Given the description of an element on the screen output the (x, y) to click on. 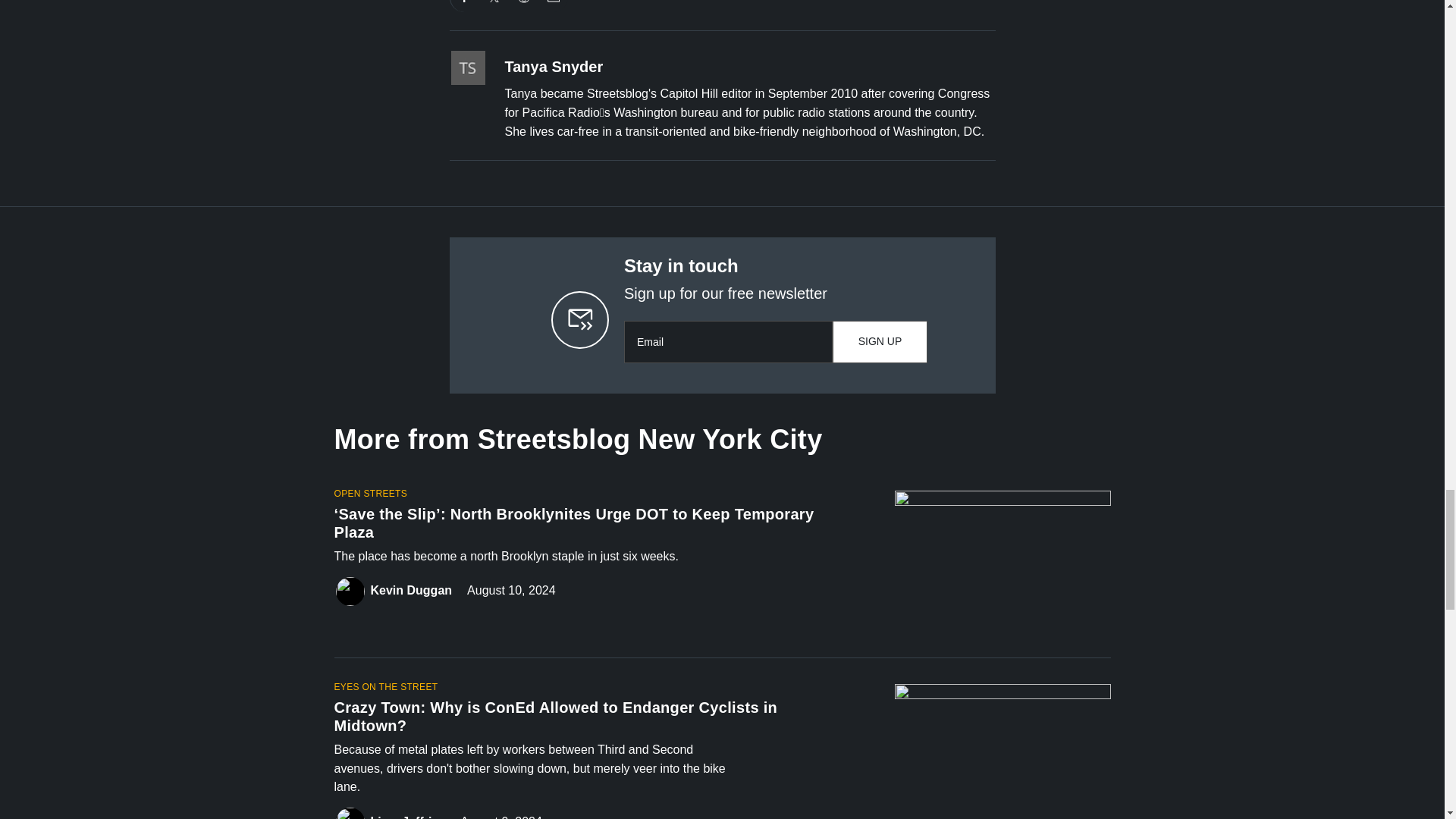
Share on Email (552, 6)
Share on Reddit (523, 6)
Share on Facebook (464, 6)
